Given the description of an element on the screen output the (x, y) to click on. 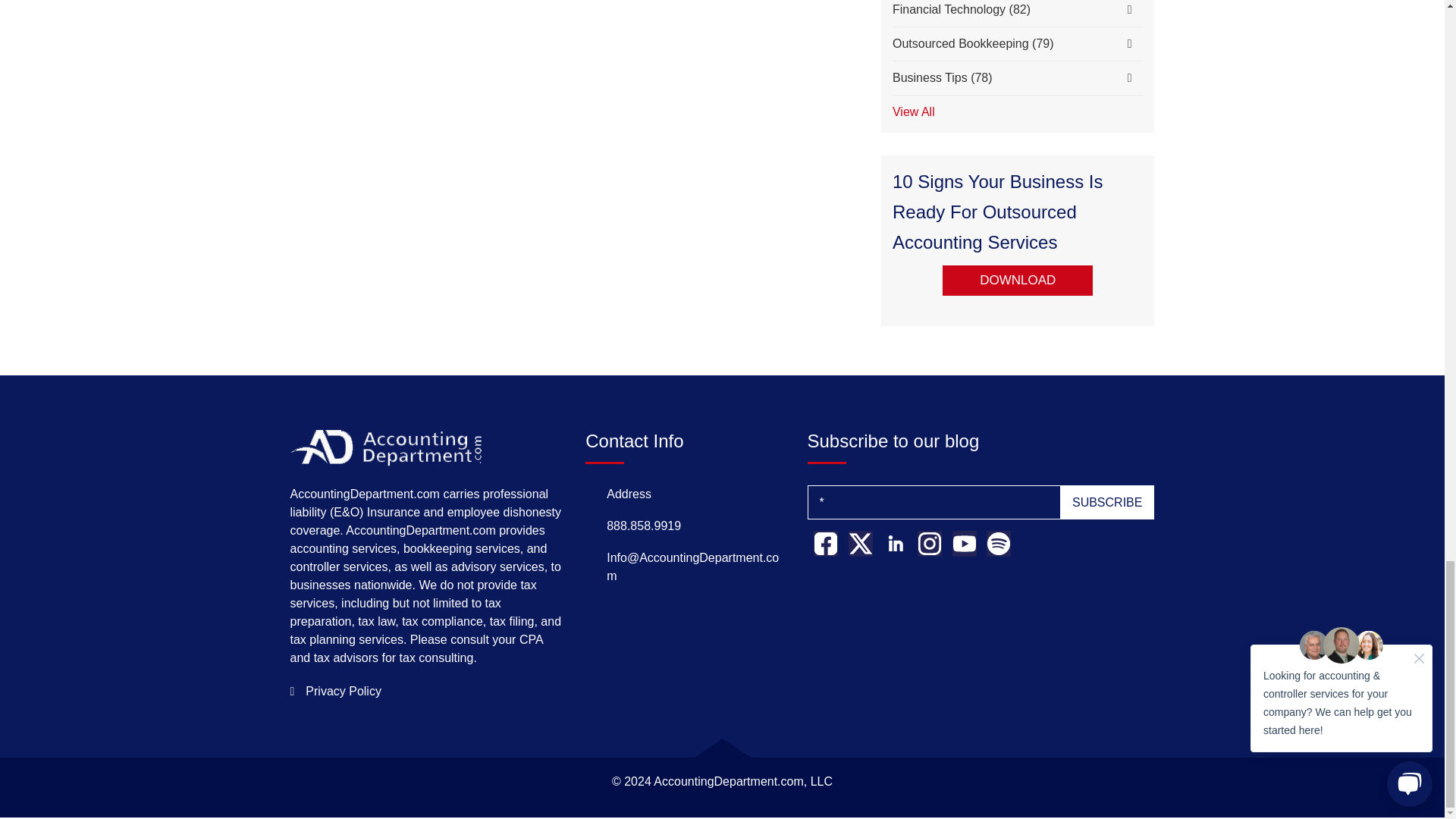
Subscribe (1106, 502)
Download (1017, 280)
footer-logo.png (384, 447)
